Given the description of an element on the screen output the (x, y) to click on. 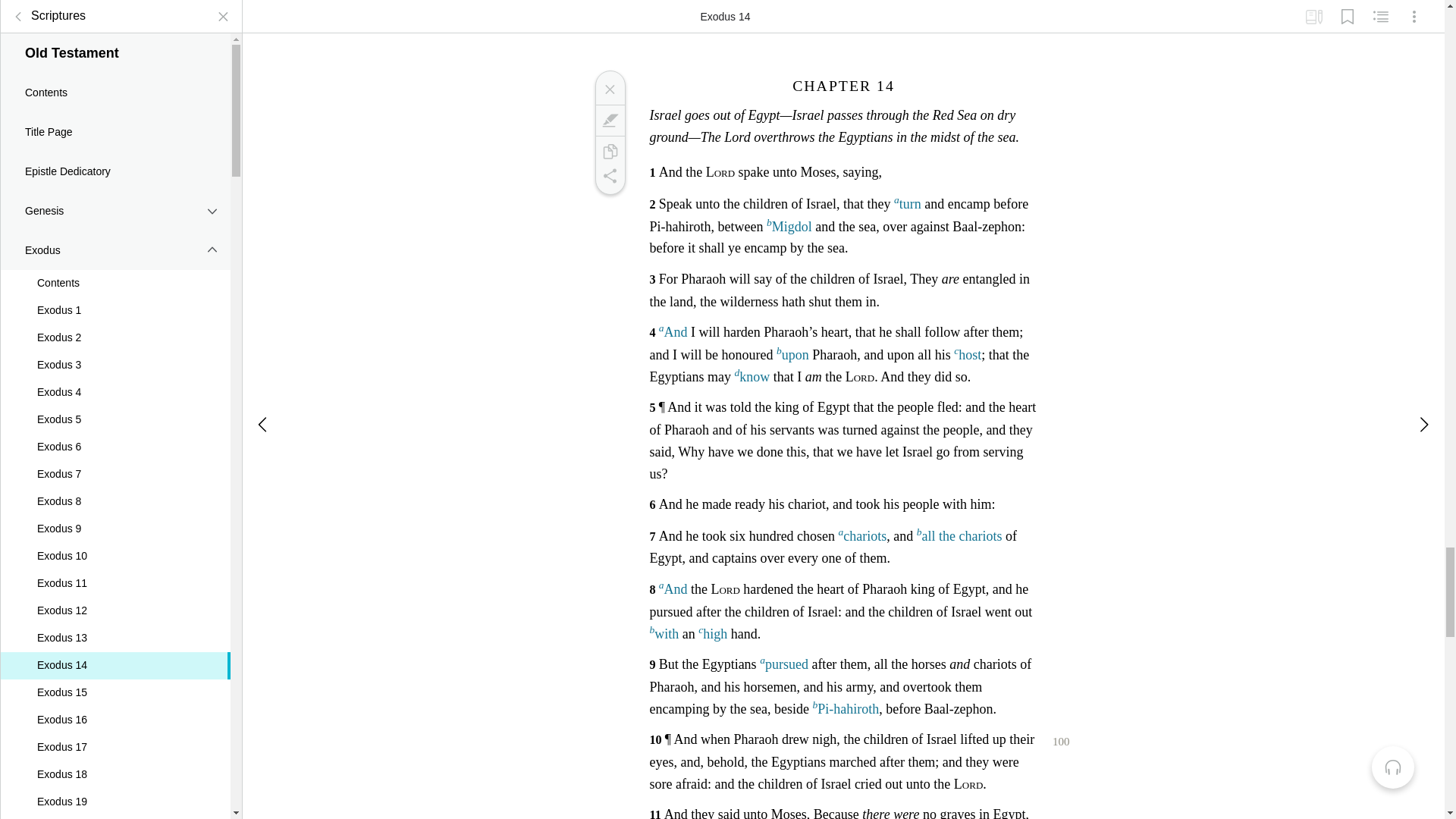
Scriptures (46, 8)
Exodus 17 (115, 736)
Exodus 20 (115, 811)
Exodus 19 (115, 790)
Related Content (1380, 11)
Exodus 1 (115, 298)
Epistle Dedicatory (115, 159)
Exodus 11 (115, 572)
Exodus 4 (115, 380)
Exodus 5 (115, 408)
Genesis (115, 199)
Share (608, 175)
Exodus 7 (115, 462)
Title Page (115, 120)
Exodus 8 (115, 490)
